Given the description of an element on the screen output the (x, y) to click on. 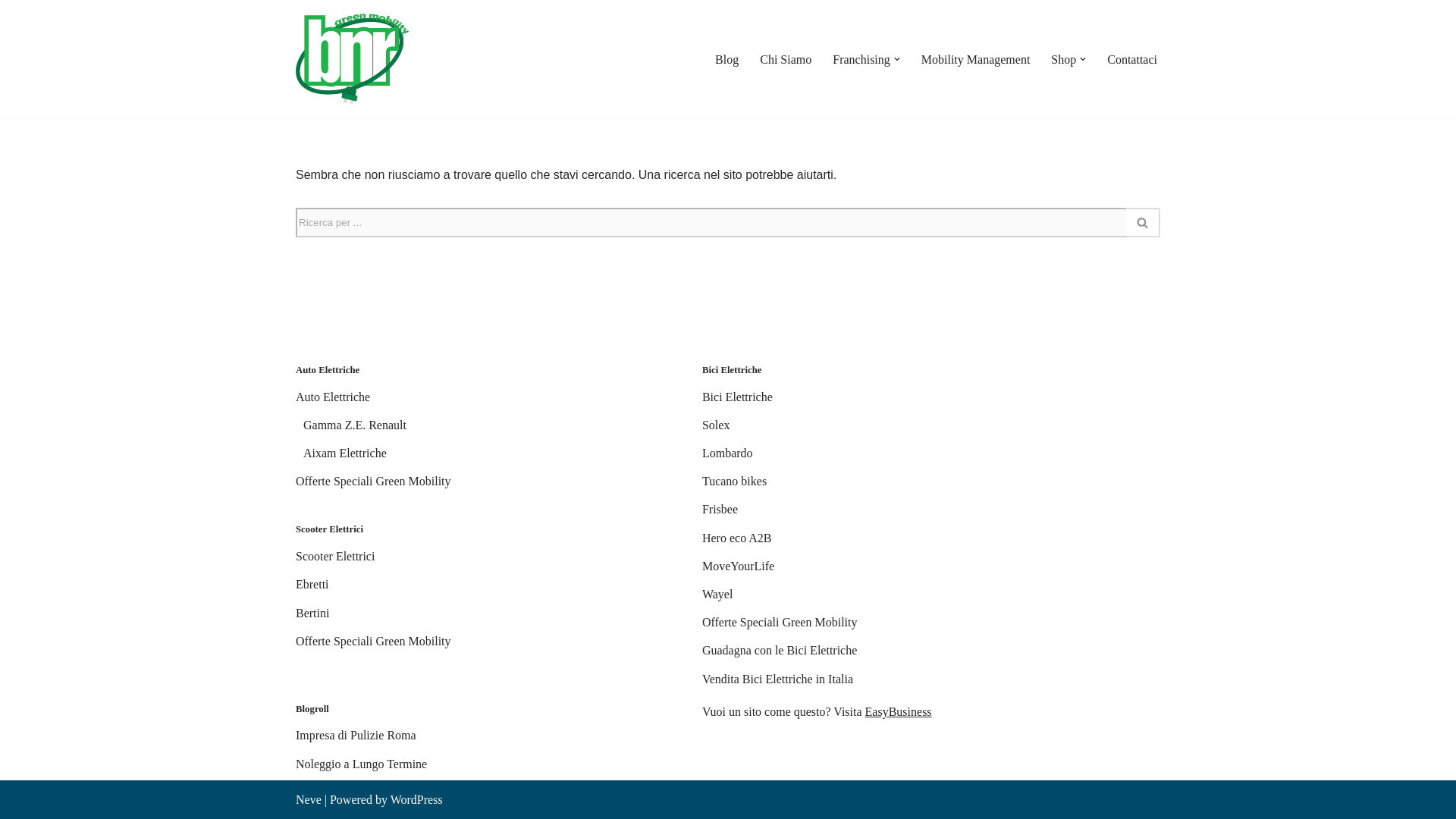
Franchising (860, 59)
Scooter Elettrici (334, 555)
Solex (715, 424)
Bertini (312, 612)
Offerte Speciali Green Mobility (373, 481)
Ristrutturazioni, Pulizie e Servizi per la Casa a Roma (355, 735)
Offerte Speciali Green Mobility (373, 640)
Chi Siamo (785, 59)
Mobility Management (975, 59)
Shop (1063, 59)
